Given the description of an element on the screen output the (x, y) to click on. 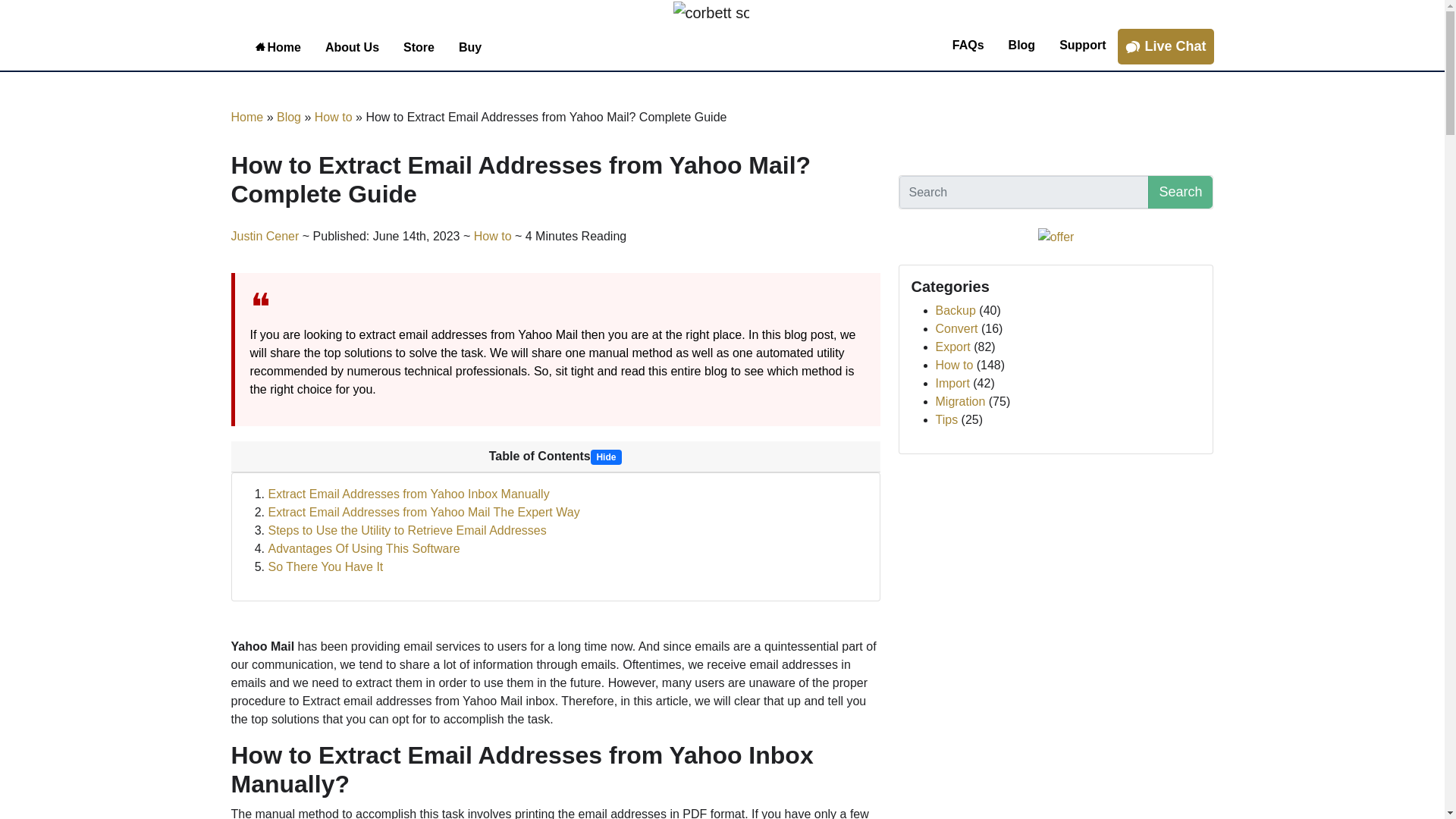
Extract Email Addresses from Yahoo Inbox Manually (408, 493)
Home (278, 46)
Extract Email Addresses from Yahoo Mail The Expert Way (423, 512)
Backup (955, 309)
Import (952, 382)
Advantages Of Using This Software (363, 548)
Buy (469, 46)
How to (333, 116)
So There You Have It (325, 566)
Blog (1021, 44)
Store (418, 46)
About Us (352, 46)
Home (246, 116)
Advantages Of Using This Software (363, 548)
How to (955, 364)
